Given the description of an element on the screen output the (x, y) to click on. 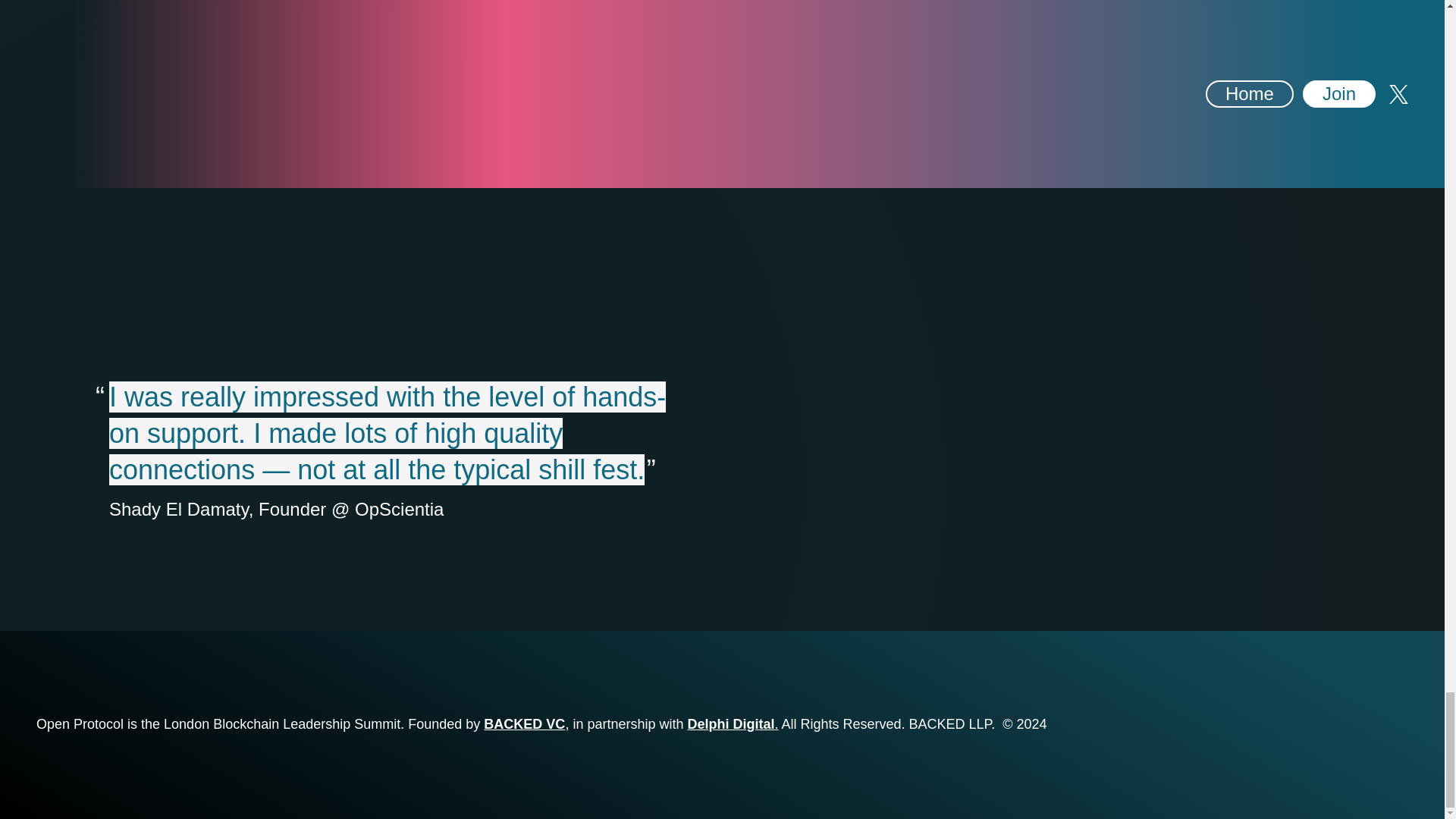
Delphi Digital. (732, 724)
BACKED VC (523, 724)
